Given the description of an element on the screen output the (x, y) to click on. 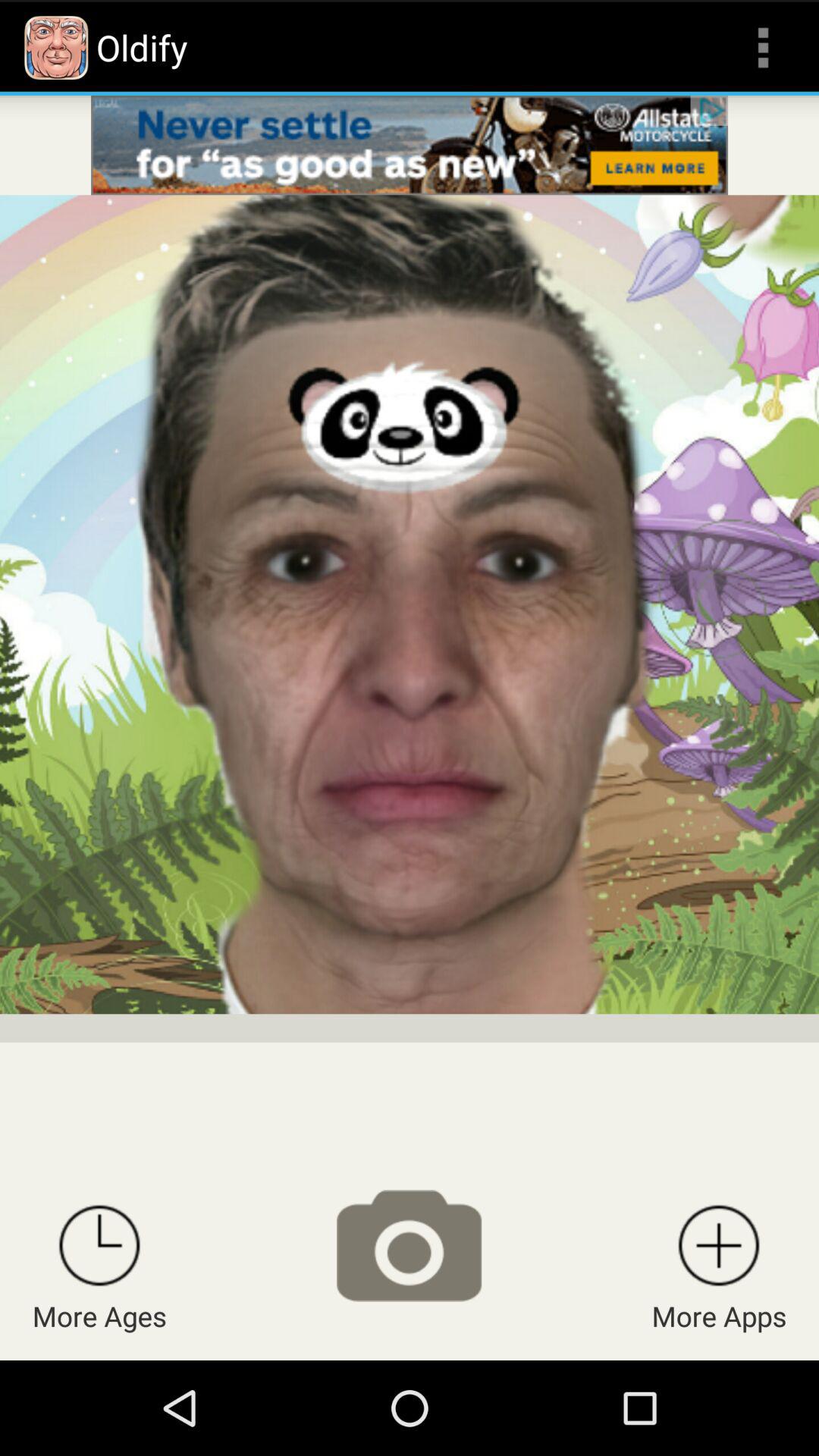
view advertisement (409, 145)
